Given the description of an element on the screen output the (x, y) to click on. 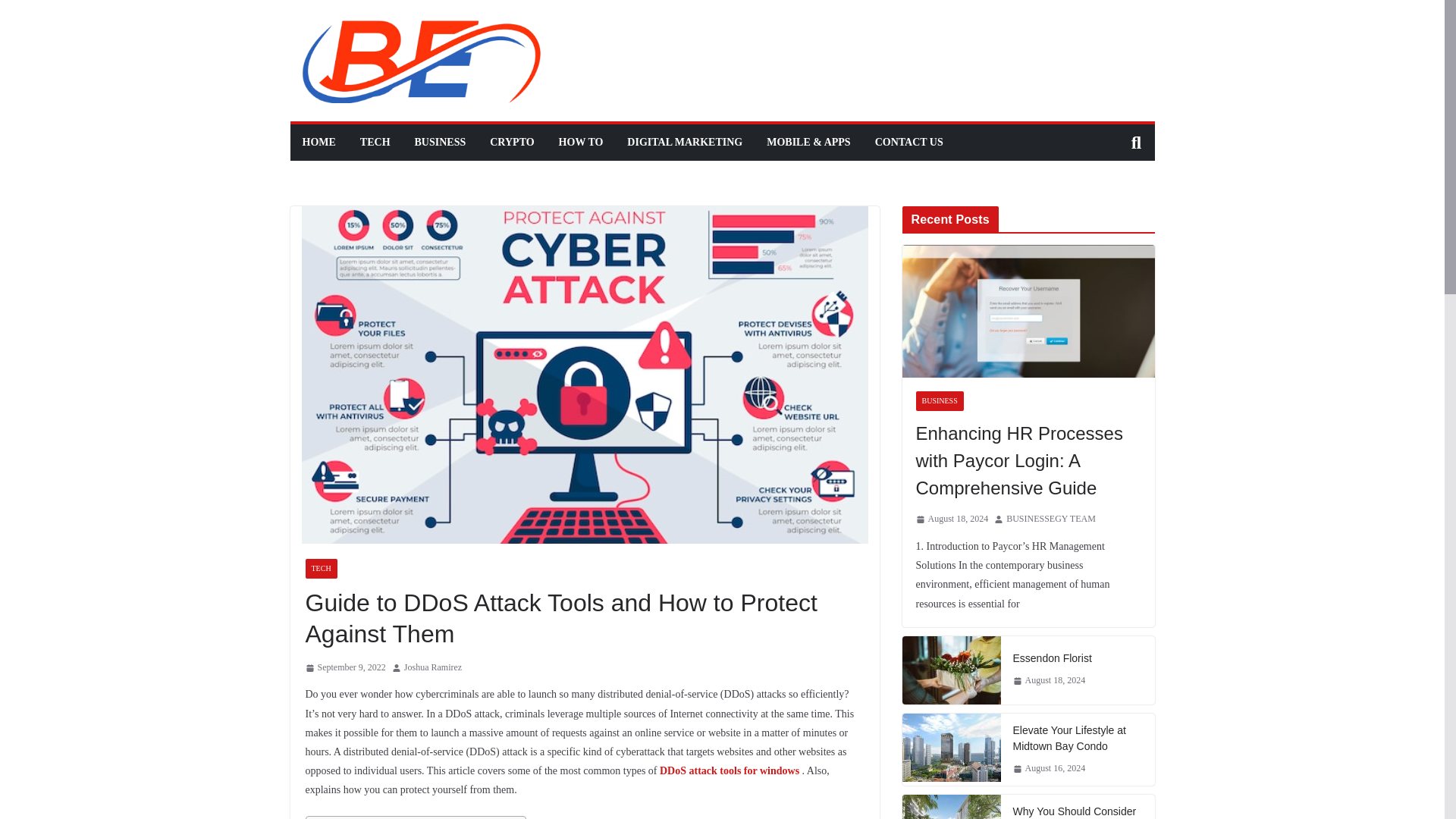
September 9, 2022 (344, 668)
BUSINESS (439, 142)
CRYPTO (511, 142)
TECH (320, 568)
DDoS attack tools for windows (729, 770)
Joshua Ramirez (432, 668)
Joshua Ramirez (432, 668)
BUSINESS (939, 401)
5:24 pm (344, 668)
TECH (374, 142)
